Given the description of an element on the screen output the (x, y) to click on. 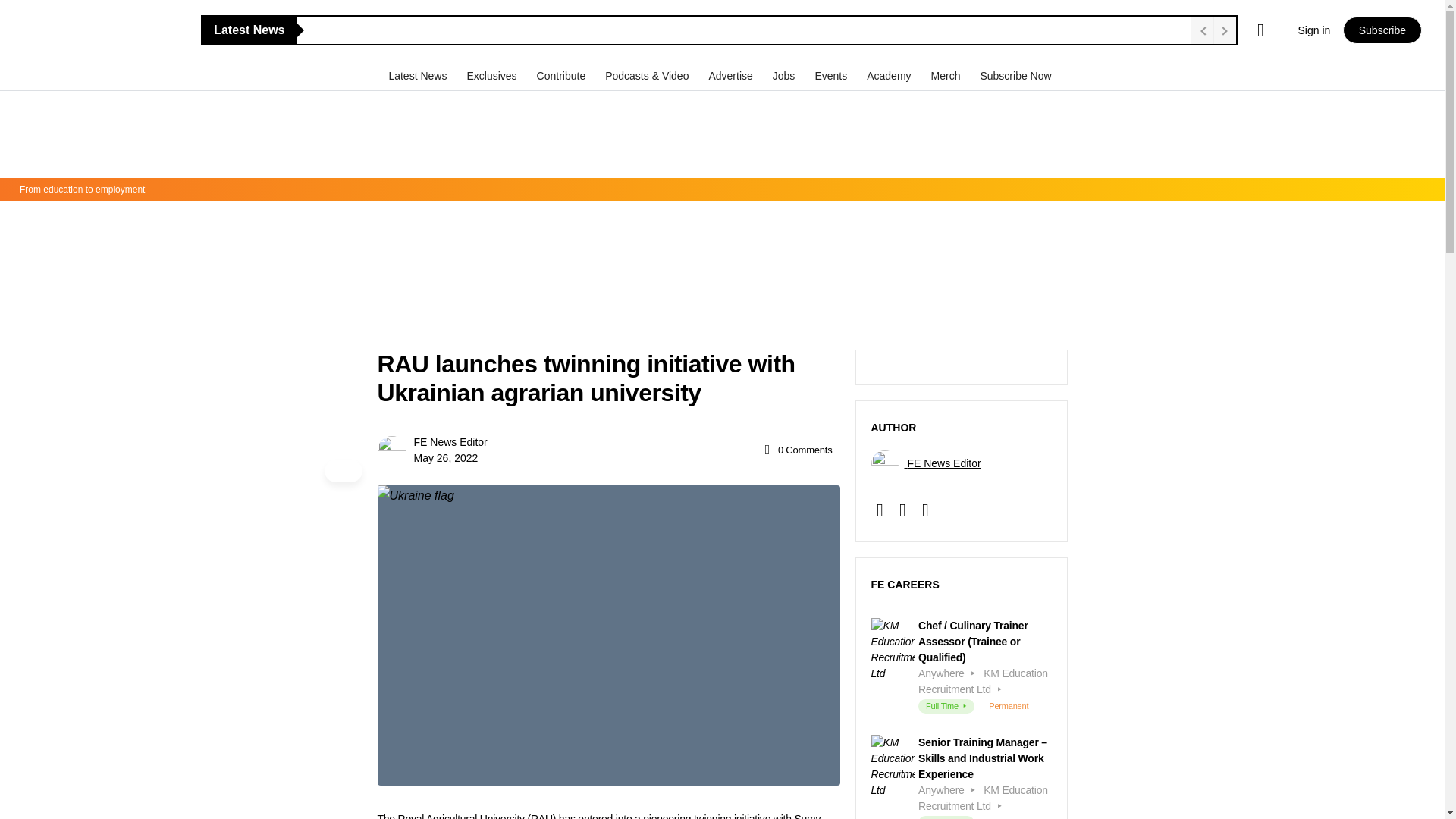
Latest News (419, 75)
Exclusives (493, 75)
Subscribe (1382, 30)
Sign in (1313, 30)
